Given the description of an element on the screen output the (x, y) to click on. 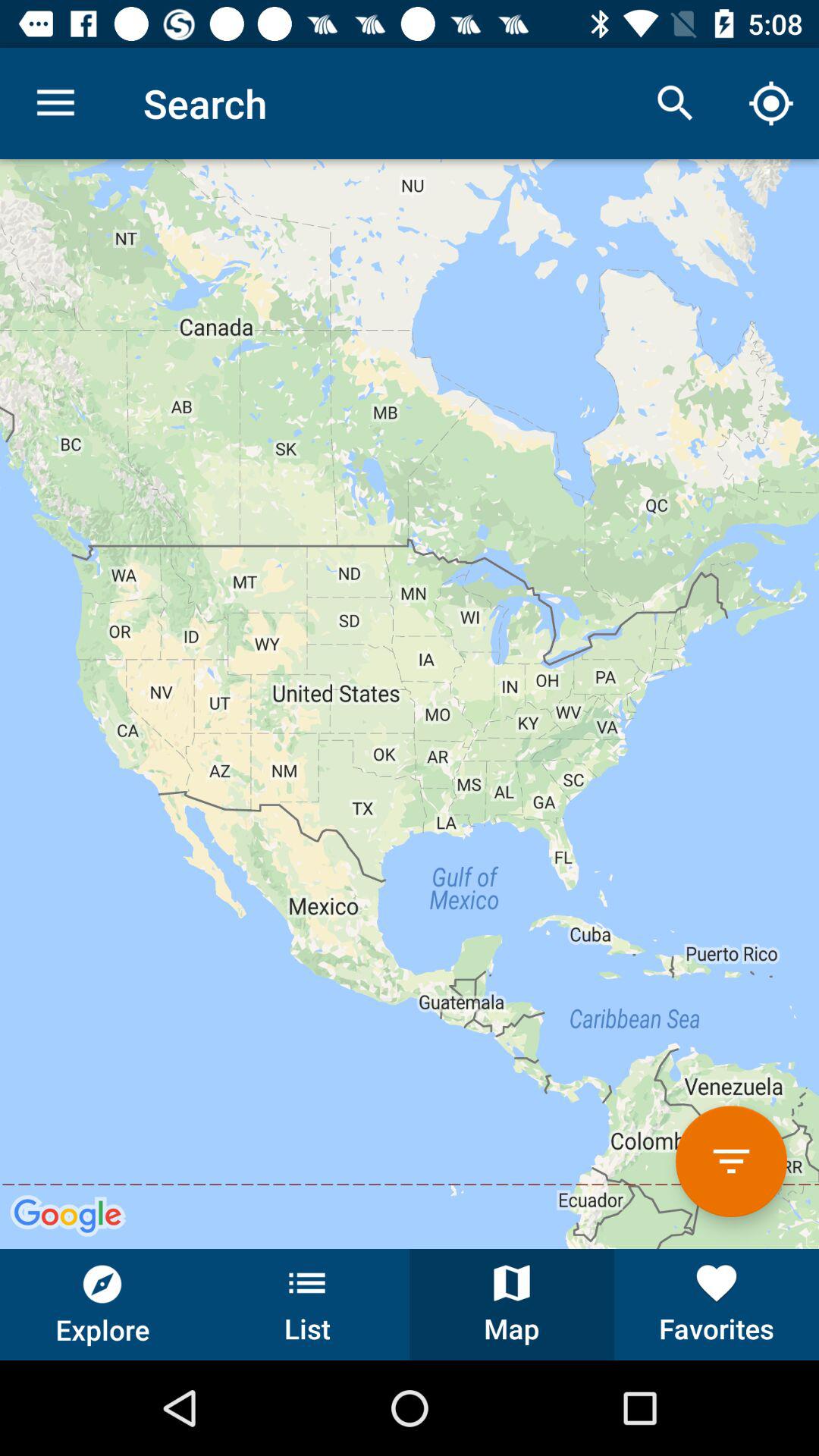
press the button next to the map button (306, 1304)
